Given the description of an element on the screen output the (x, y) to click on. 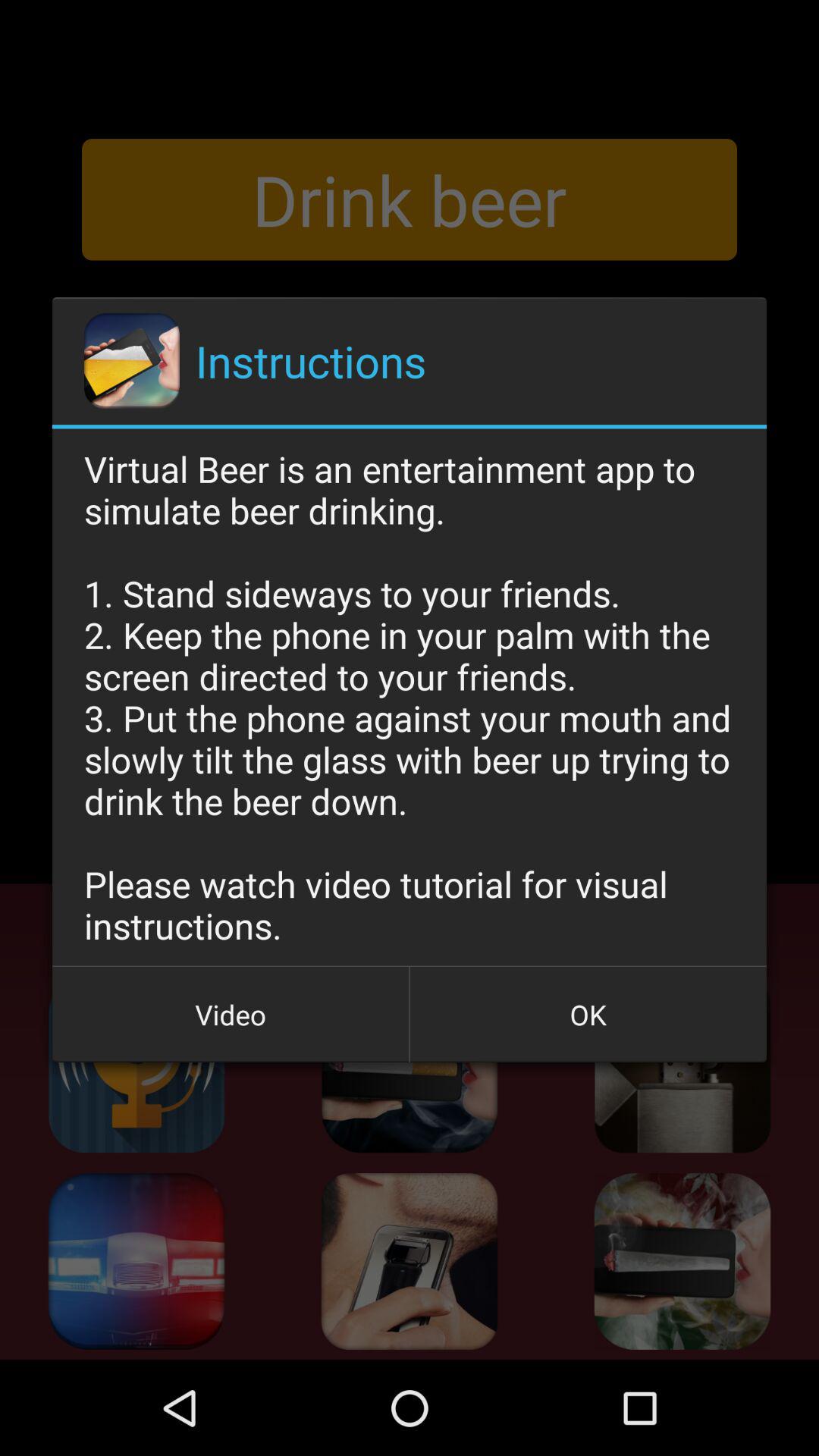
turn off the icon at the bottom left corner (230, 1014)
